Given the description of an element on the screen output the (x, y) to click on. 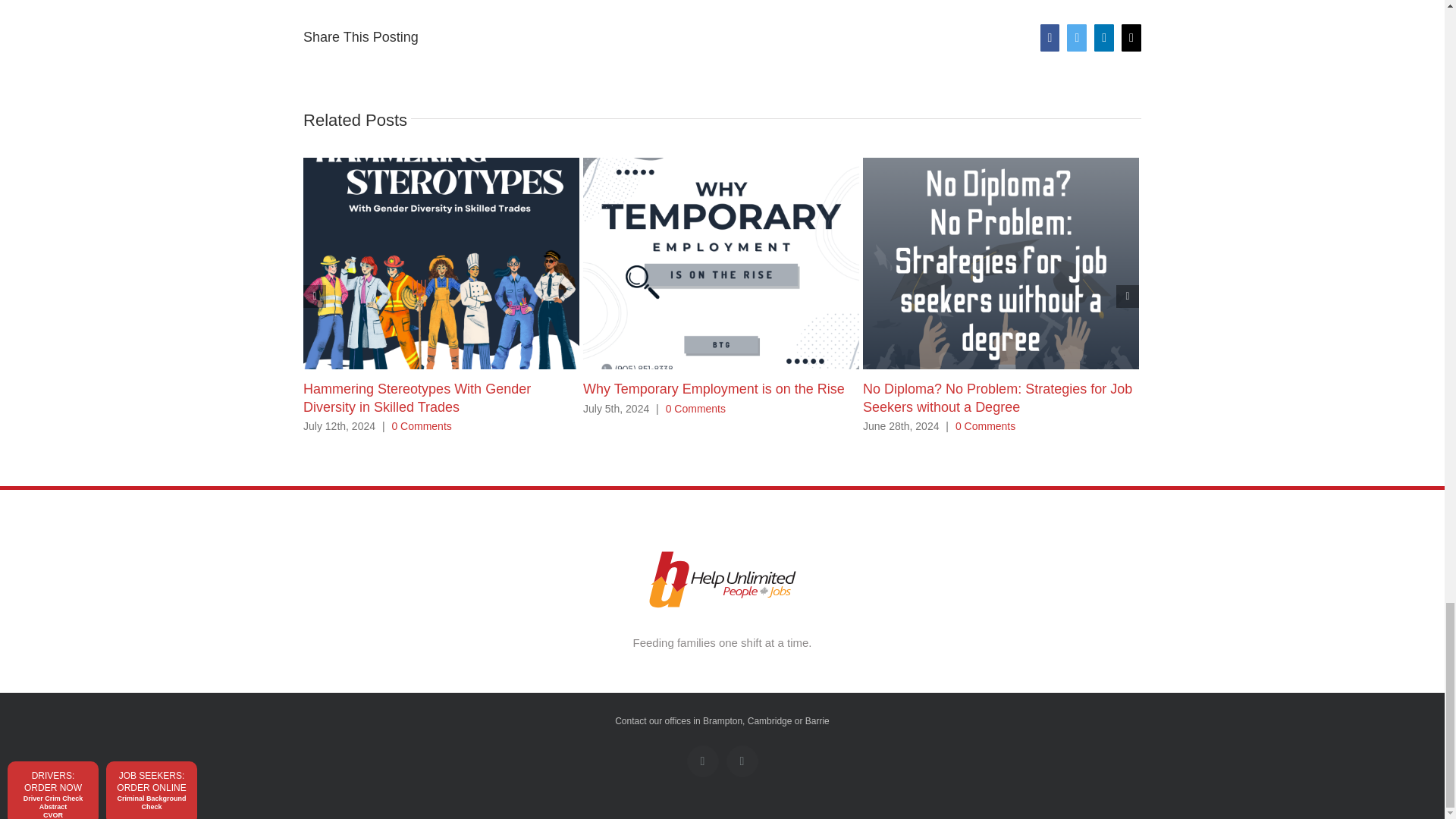
Why Temporary Employment is on the Rise (713, 388)
